Given the description of an element on the screen output the (x, y) to click on. 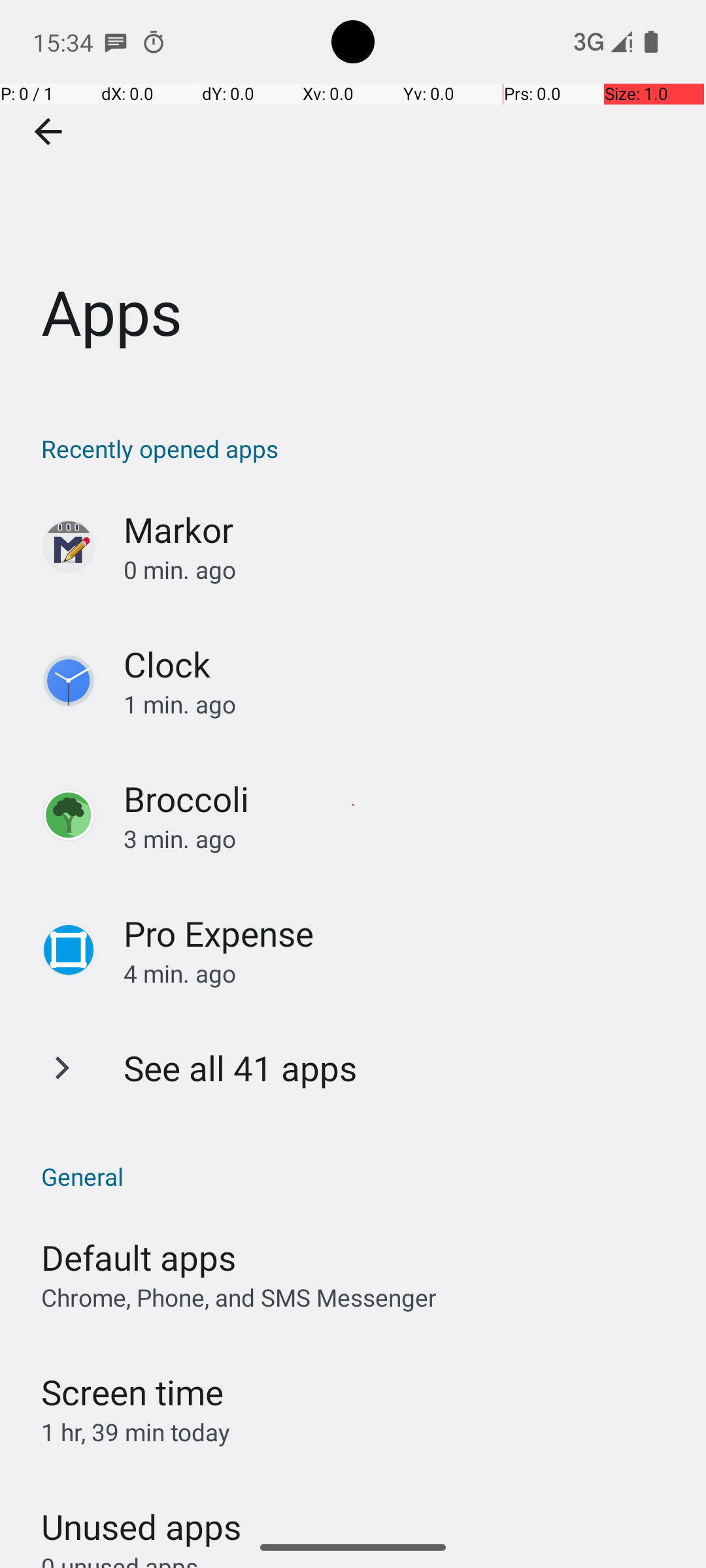
1 hr, 39 min today Element type: android.widget.TextView (135, 1431)
